Given the description of an element on the screen output the (x, y) to click on. 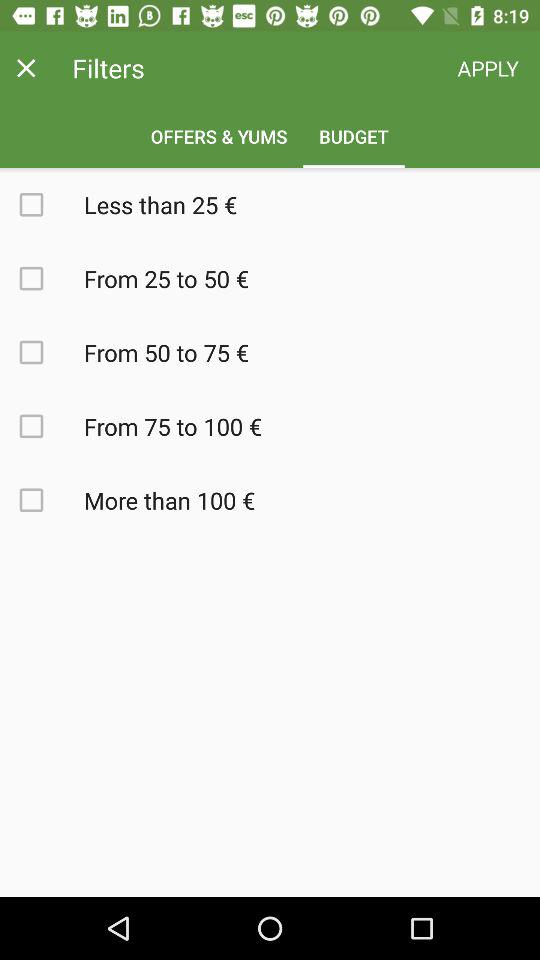
toggle more than 100 option (41, 500)
